Given the description of an element on the screen output the (x, y) to click on. 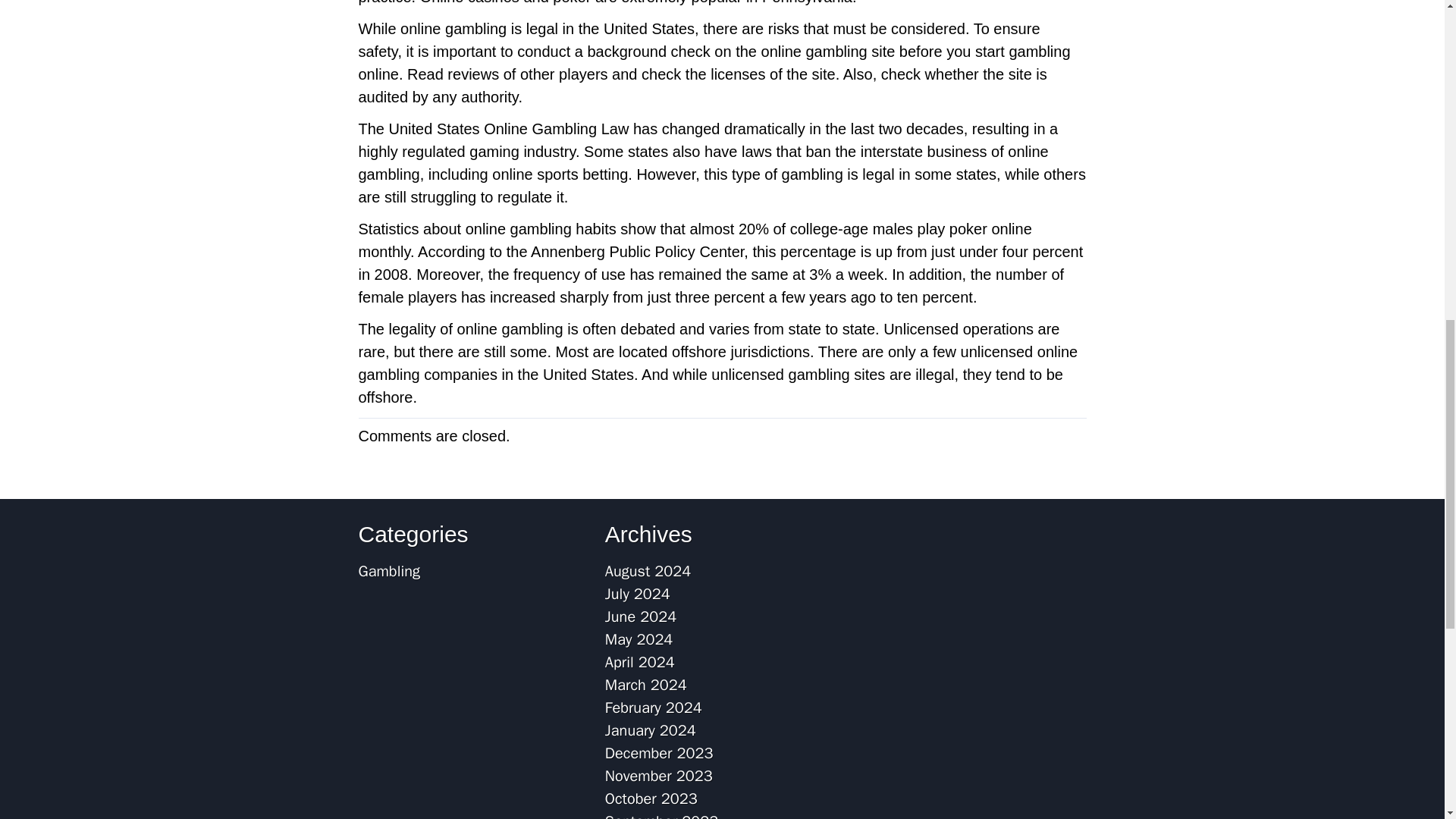
January 2024 (650, 730)
March 2024 (646, 684)
May 2024 (638, 639)
August 2024 (648, 570)
Gambling (388, 570)
June 2024 (641, 616)
December 2023 (659, 752)
October 2023 (651, 798)
November 2023 (659, 775)
April 2024 (640, 661)
